Given the description of an element on the screen output the (x, y) to click on. 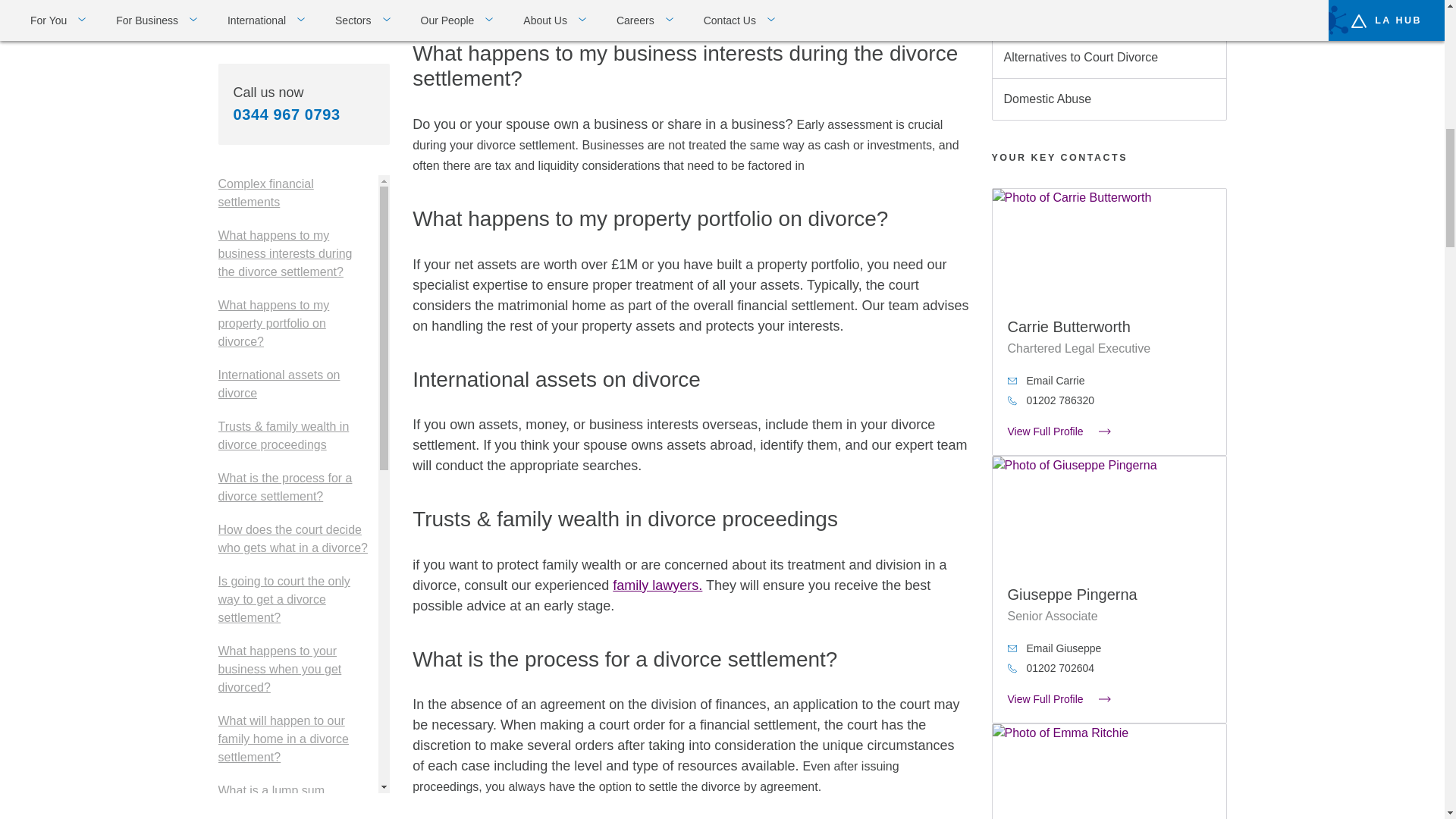
Nuptial Agreements (1108, 18)
Giuseppe Pingerna (1108, 513)
Carrie Butterworth (1108, 245)
Carrie Butterworth (1068, 326)
Alternatives to Court Divorce (1108, 56)
Giuseppe Pingerna (1072, 594)
Call Carrie Butterworth (1108, 400)
Email Carrie Butterworth (1108, 381)
Carrie Butterworth (1108, 431)
Domestic Abuse (1108, 98)
